Given the description of an element on the screen output the (x, y) to click on. 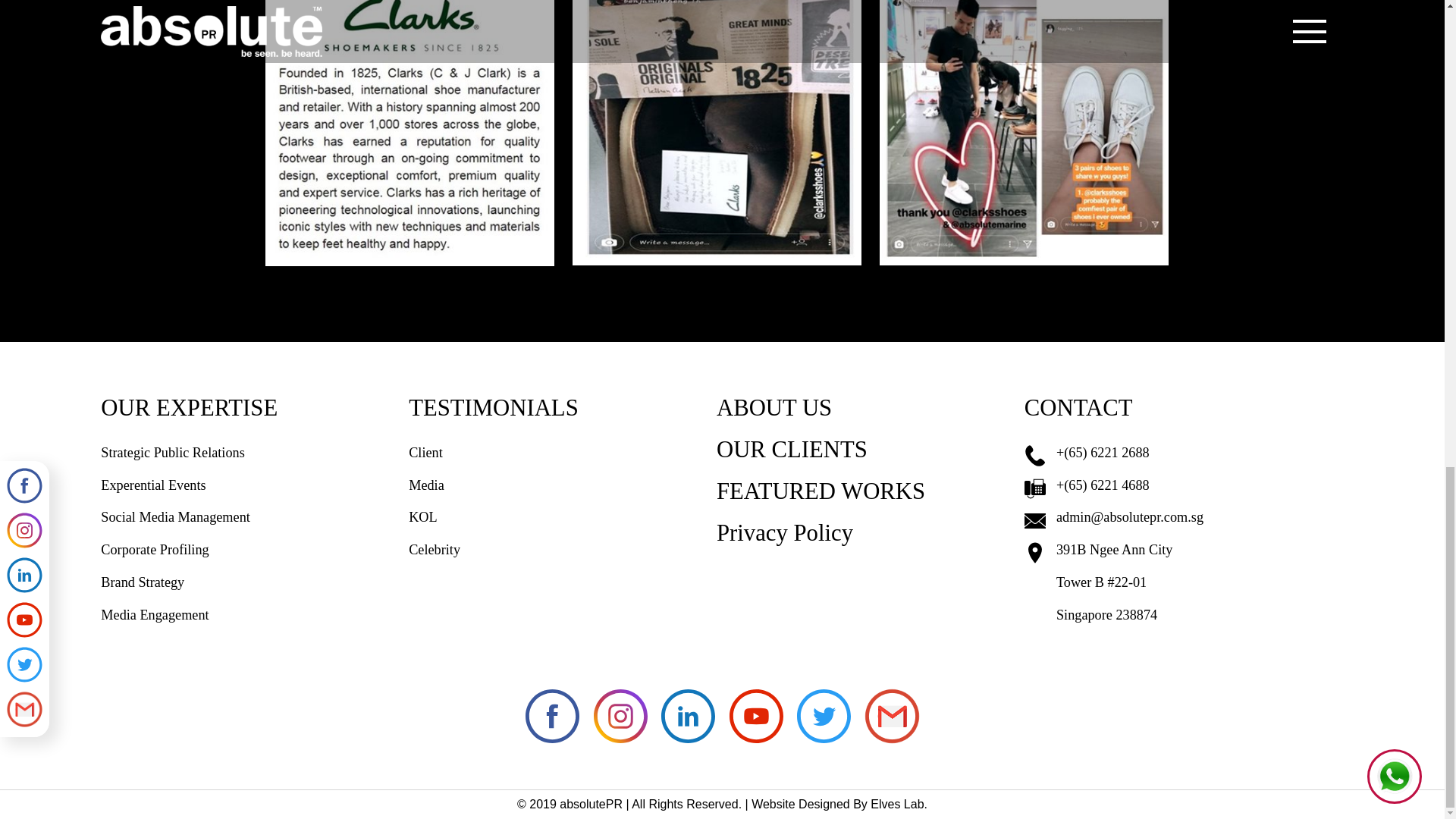
OUR EXPERTISE (252, 415)
Social Media Management (252, 517)
Strategic Public Relations (252, 452)
Experential Events (252, 485)
FEATURED WORKS (868, 499)
Media Engagement (252, 614)
OUR CLIENTS (868, 457)
ABOUT US (868, 415)
TESTIMONIALS (561, 415)
Media (561, 485)
KOL (561, 517)
Privacy Policy (868, 540)
Corporate Profiling (252, 549)
Celebrity (561, 549)
Brand Strategy (252, 582)
